Given the description of an element on the screen output the (x, y) to click on. 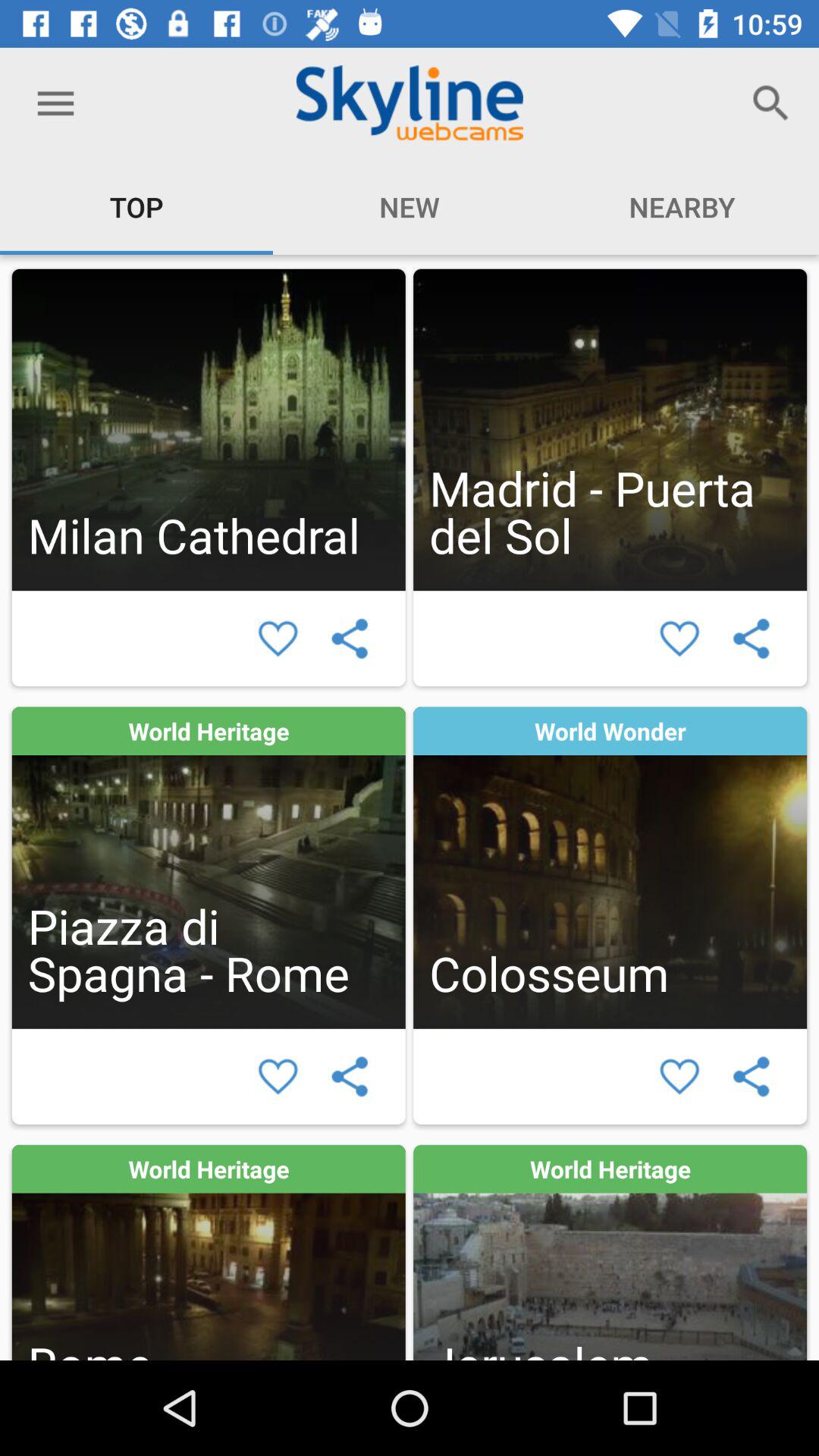
view webcam (610, 1252)
